Given the description of an element on the screen output the (x, y) to click on. 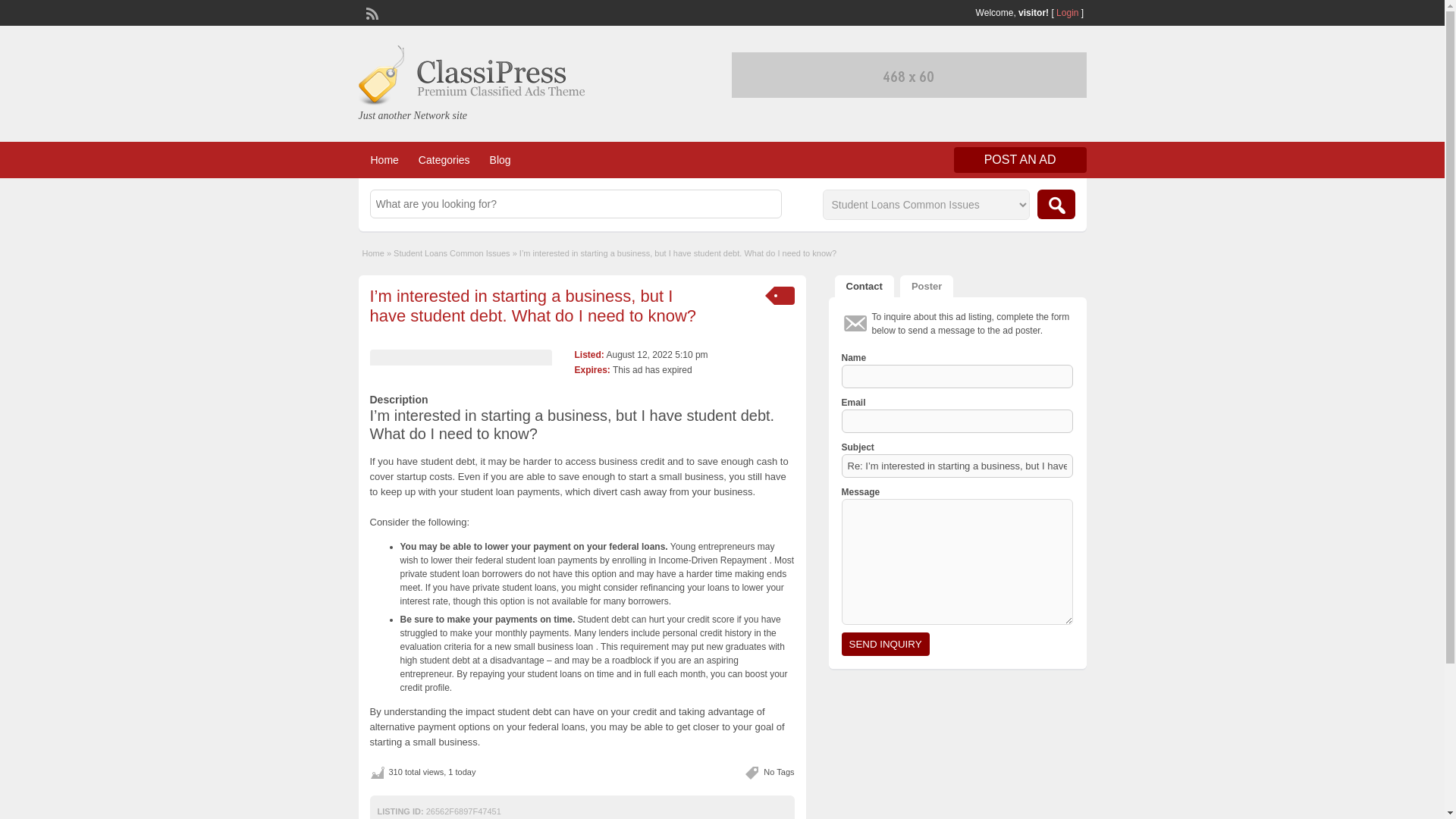
Categories (443, 159)
Blog (499, 159)
POST AN AD (1019, 159)
Student Loans Common Issues (451, 252)
Home (384, 159)
Send Inquiry (885, 644)
RSS Feed (369, 11)
Home (373, 252)
Login (1067, 12)
search (1055, 204)
